Given the description of an element on the screen output the (x, y) to click on. 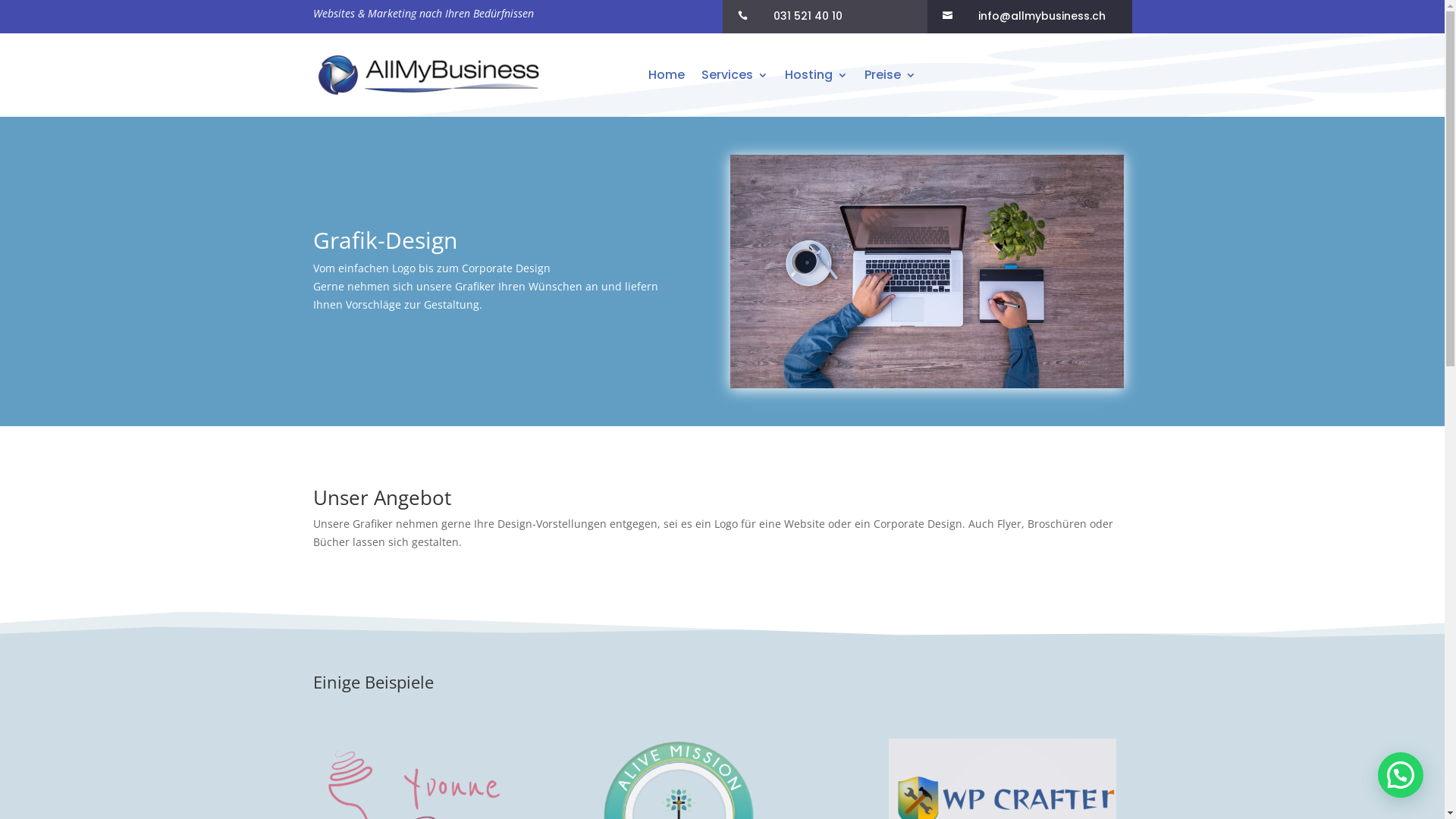
Home Element type: text (666, 74)
Hosting Element type: text (815, 74)
Services Element type: text (734, 74)
Preise Element type: text (890, 74)
